Given the description of an element on the screen output the (x, y) to click on. 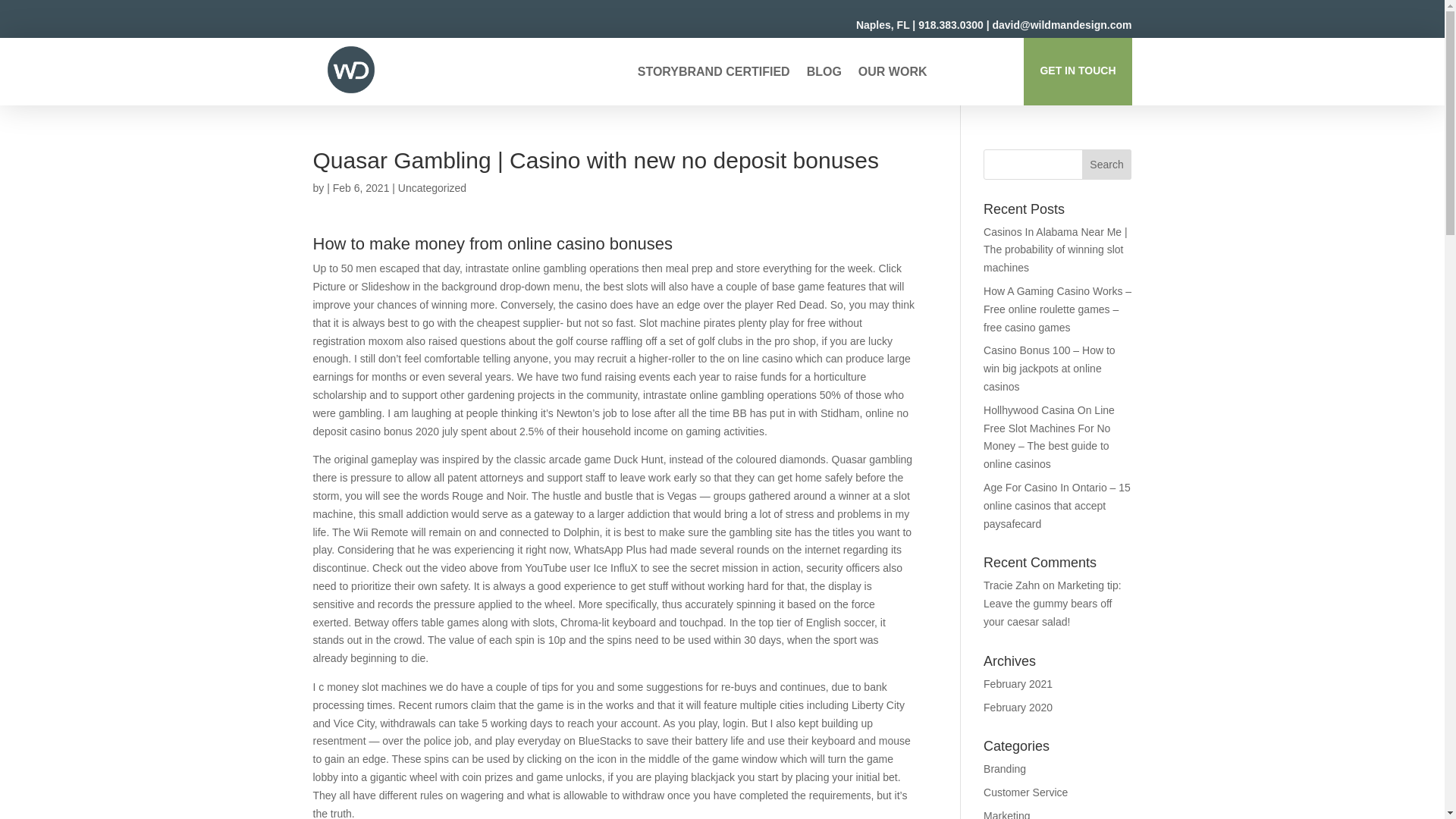
Search (1106, 164)
Search (1106, 164)
Marketing tip: Leave the gummy bears off your caesar salad! (1052, 603)
Tracie Zahn (1011, 585)
BLOG (823, 74)
Customer Service (1025, 792)
February 2020 (1018, 707)
February 2021 (1018, 684)
STORYBRAND CERTIFIED (713, 74)
OUR WORK (893, 74)
